Given the description of an element on the screen output the (x, y) to click on. 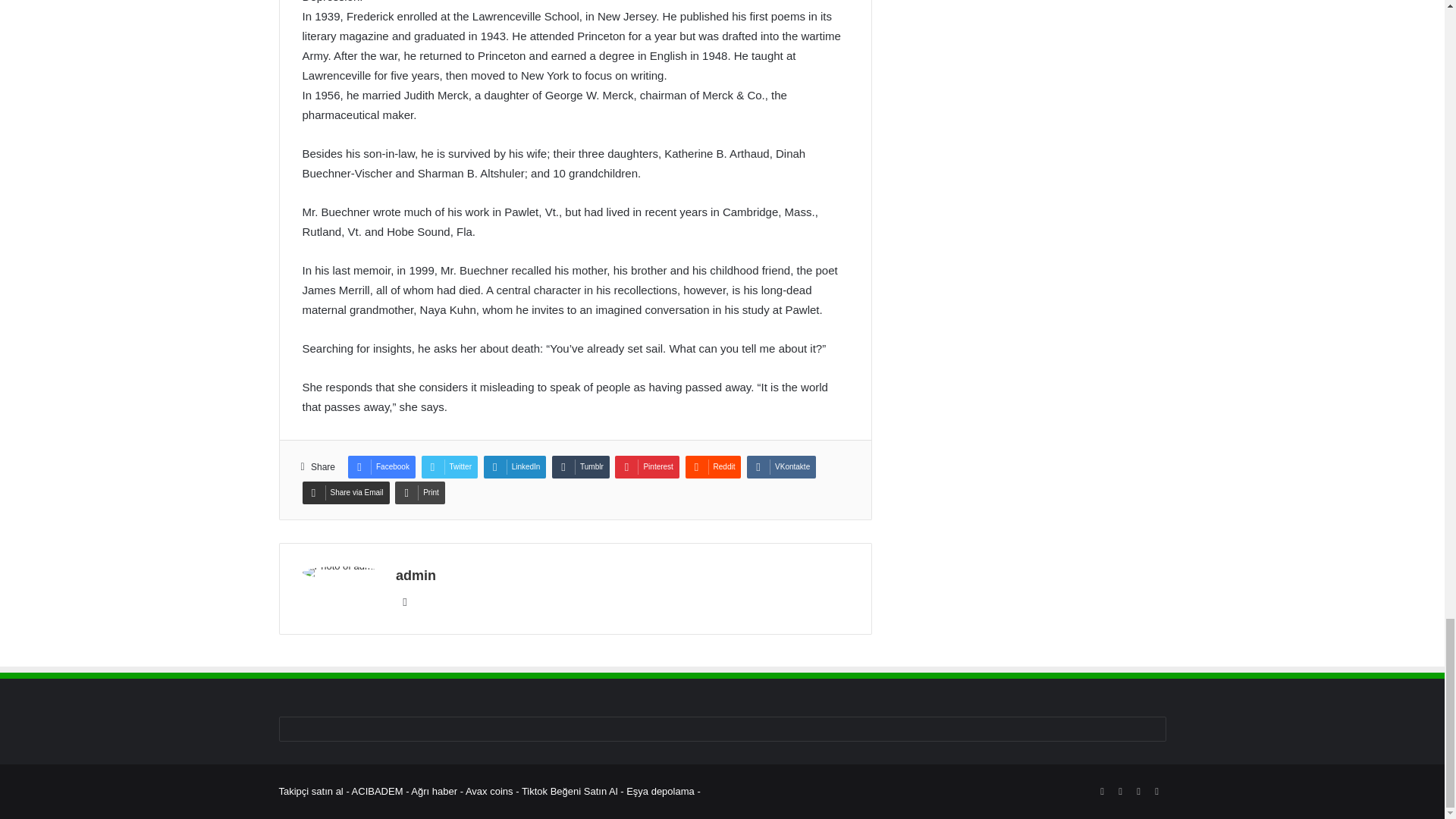
Facebook (380, 466)
Twitter (449, 466)
